Given the description of an element on the screen output the (x, y) to click on. 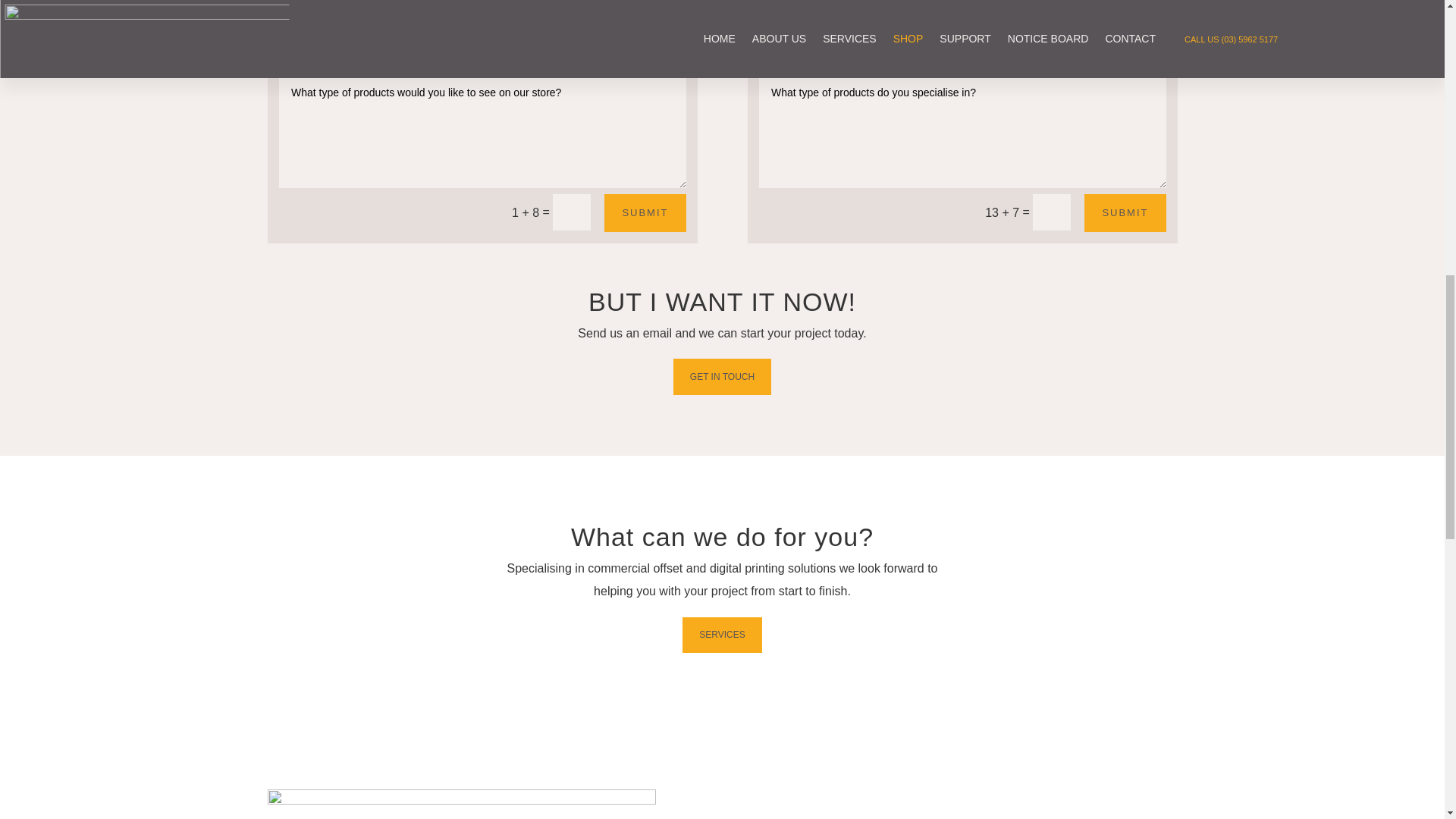
GET IN TOUCH (721, 376)
SERVICES (721, 635)
SUBMIT (1125, 212)
SUBMIT (644, 212)
cropped-breen-circle2.png (460, 804)
